Given the description of an element on the screen output the (x, y) to click on. 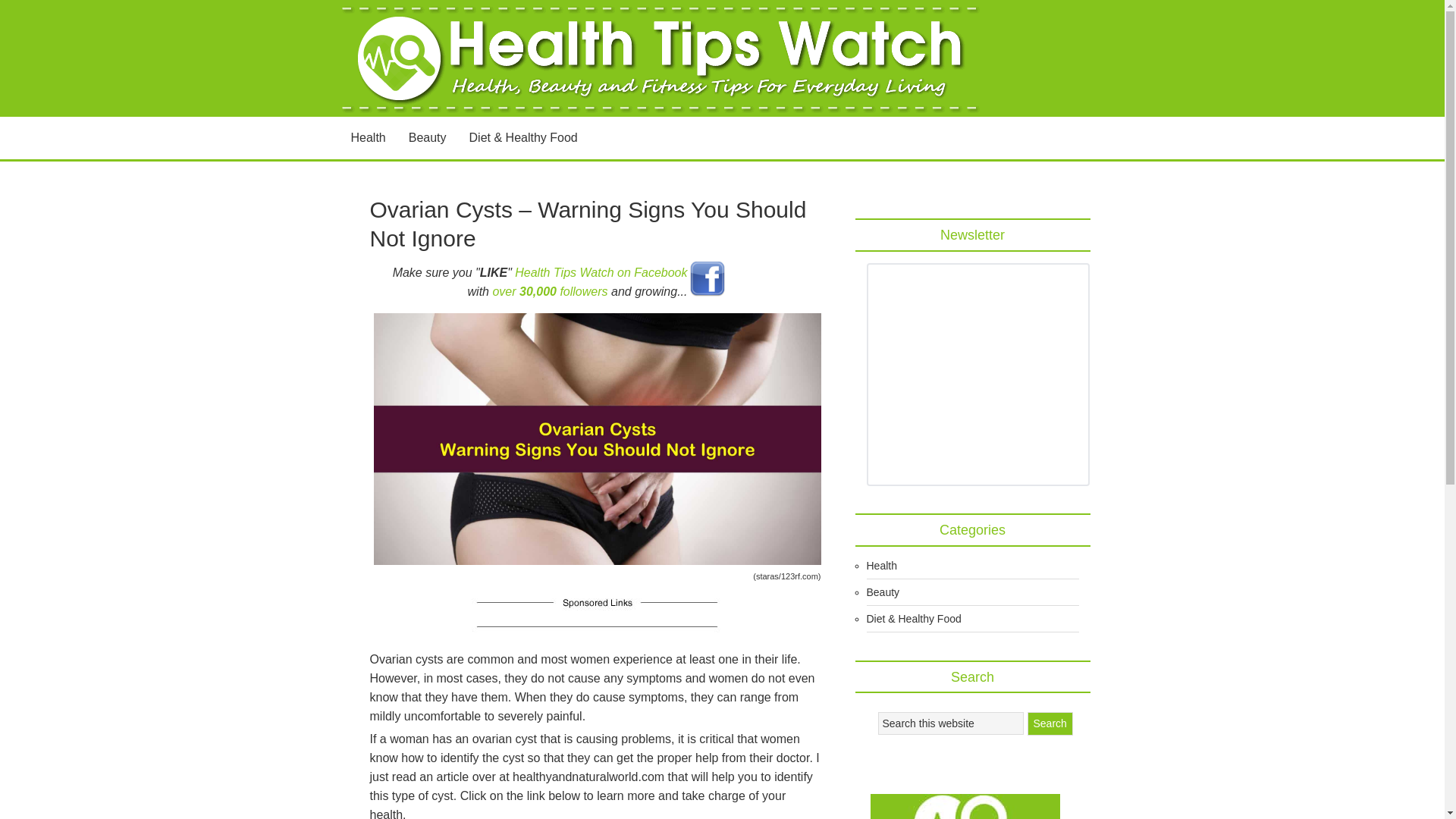
Health (881, 565)
over 30,000 followers (549, 291)
Beauty (427, 137)
Search (1048, 723)
Search (1048, 723)
Search (1048, 723)
Health Tips Watch (661, 57)
Health (368, 137)
Beauty (882, 592)
Health Tips Watch on Facebook (601, 271)
